Given the description of an element on the screen output the (x, y) to click on. 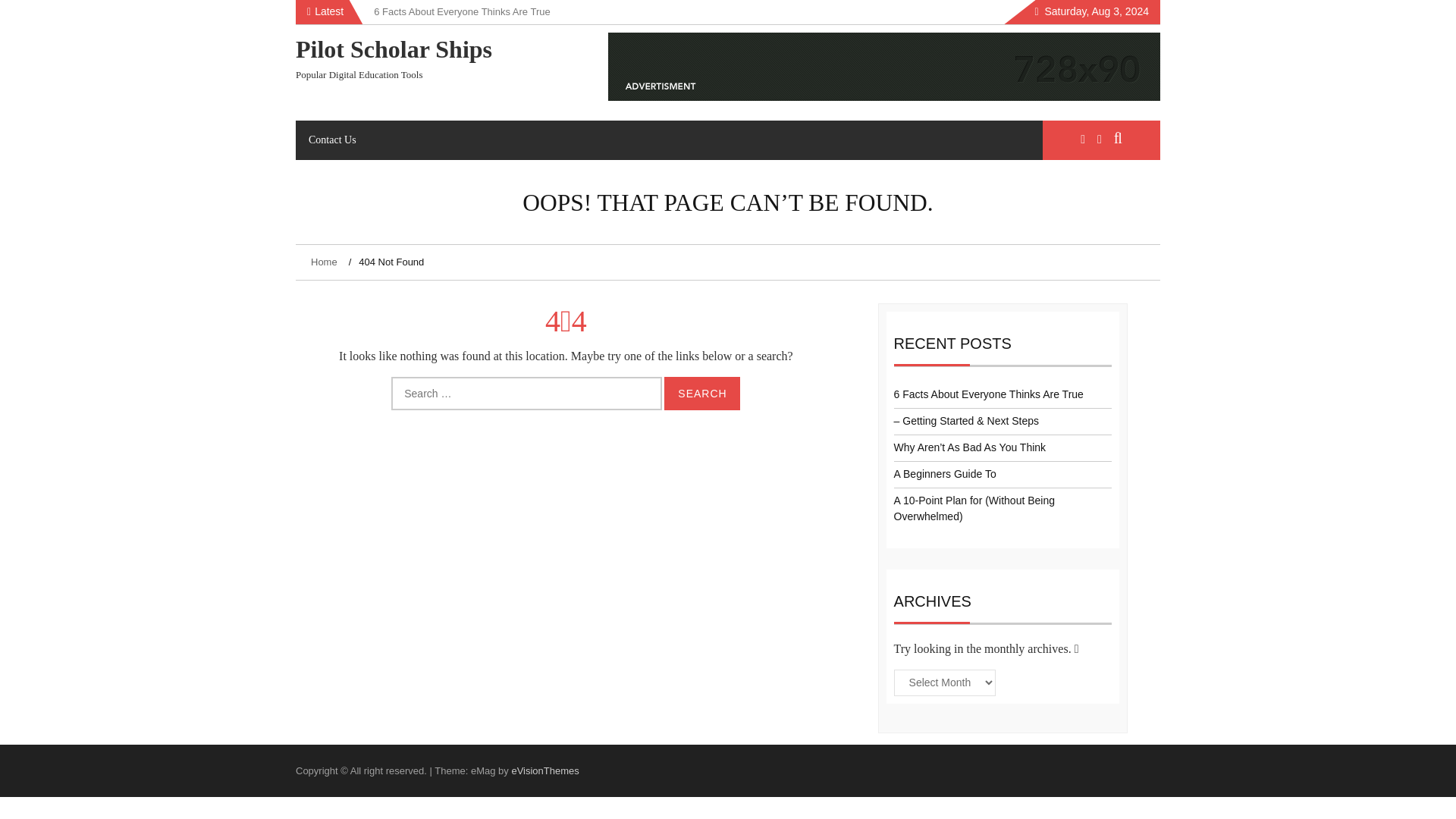
Search (701, 393)
6 Facts About Everyone Thinks Are True (462, 11)
6 Facts About Everyone Thinks Are True (988, 394)
A Beginners Guide To (944, 473)
Search (701, 393)
Home (325, 261)
Search (701, 393)
Pilot Scholar Ships (393, 49)
Contact Us (332, 139)
eVisionThemes (544, 770)
